Given the description of an element on the screen output the (x, y) to click on. 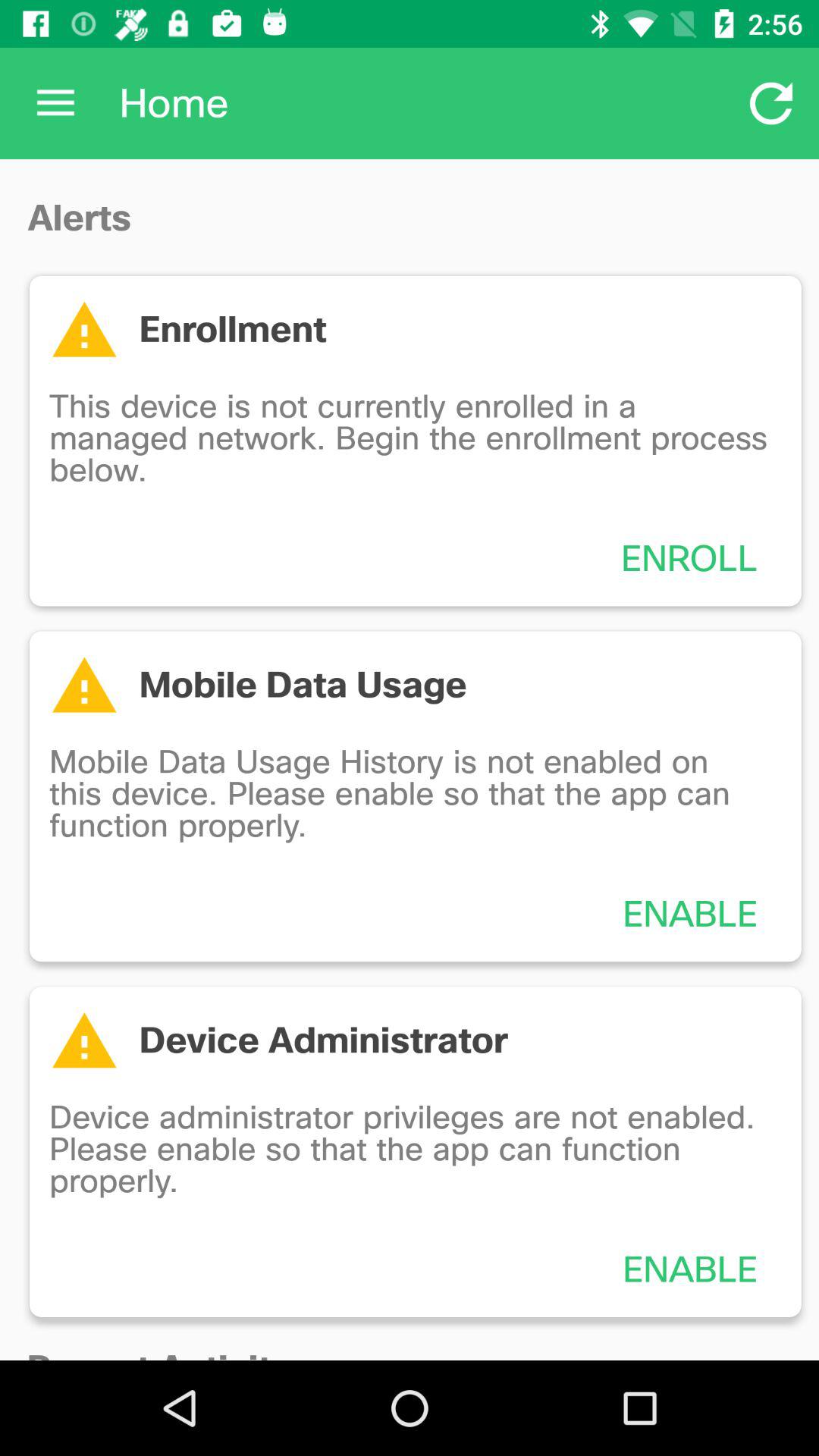
launch the icon next to the home item (55, 103)
